Given the description of an element on the screen output the (x, y) to click on. 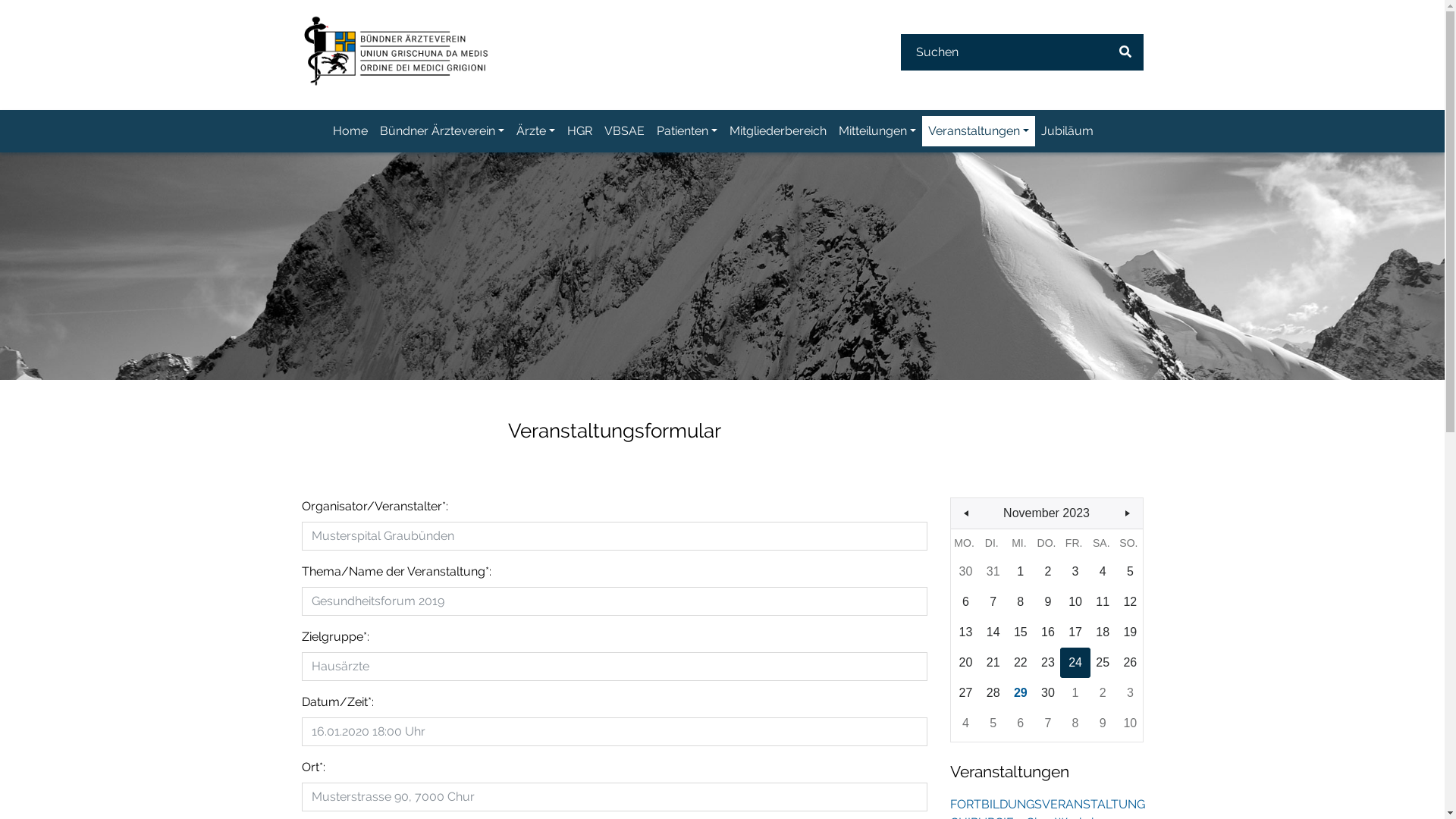
7 Element type: text (1047, 723)
30 Element type: text (1047, 692)
HGR Element type: text (579, 131)
5 Element type: text (1129, 571)
Home Element type: text (349, 131)
26 Element type: text (1129, 662)
3 Element type: text (1129, 692)
15 Element type: text (1020, 632)
9 Element type: text (1047, 601)
1 Element type: text (1020, 571)
November 2023 Element type: text (1046, 513)
29 Element type: text (1020, 692)
21 Element type: text (993, 662)
28 Element type: text (993, 692)
8 Element type: text (1075, 723)
20 Element type: text (965, 662)
27 Element type: text (965, 692)
14 Element type: text (993, 632)
11 Element type: text (1102, 601)
2 Element type: text (1102, 692)
25 Element type: text (1102, 662)
1 Element type: text (1075, 692)
16 Element type: text (1047, 632)
5 Element type: text (993, 723)
4 Element type: text (1102, 571)
22 Element type: text (1020, 662)
31 Element type: text (993, 571)
Mitteilungen Element type: text (877, 131)
30 Element type: text (965, 571)
8 Element type: text (1020, 601)
7 Element type: text (993, 601)
24 Element type: text (1075, 662)
12 Element type: text (1129, 601)
23 Element type: text (1047, 662)
18 Element type: text (1102, 632)
2 Element type: text (1047, 571)
Mitgliederbereich Element type: text (777, 131)
6 Element type: text (1020, 723)
19 Element type: text (1129, 632)
Patienten Element type: text (686, 131)
3 Element type: text (1075, 571)
Veranstaltungen Element type: text (978, 131)
4 Element type: text (965, 723)
10 Element type: text (1129, 723)
VBSAE Element type: text (624, 131)
9 Element type: text (1102, 723)
13 Element type: text (965, 632)
17 Element type: text (1075, 632)
6 Element type: text (965, 601)
10 Element type: text (1075, 601)
